Given the description of an element on the screen output the (x, y) to click on. 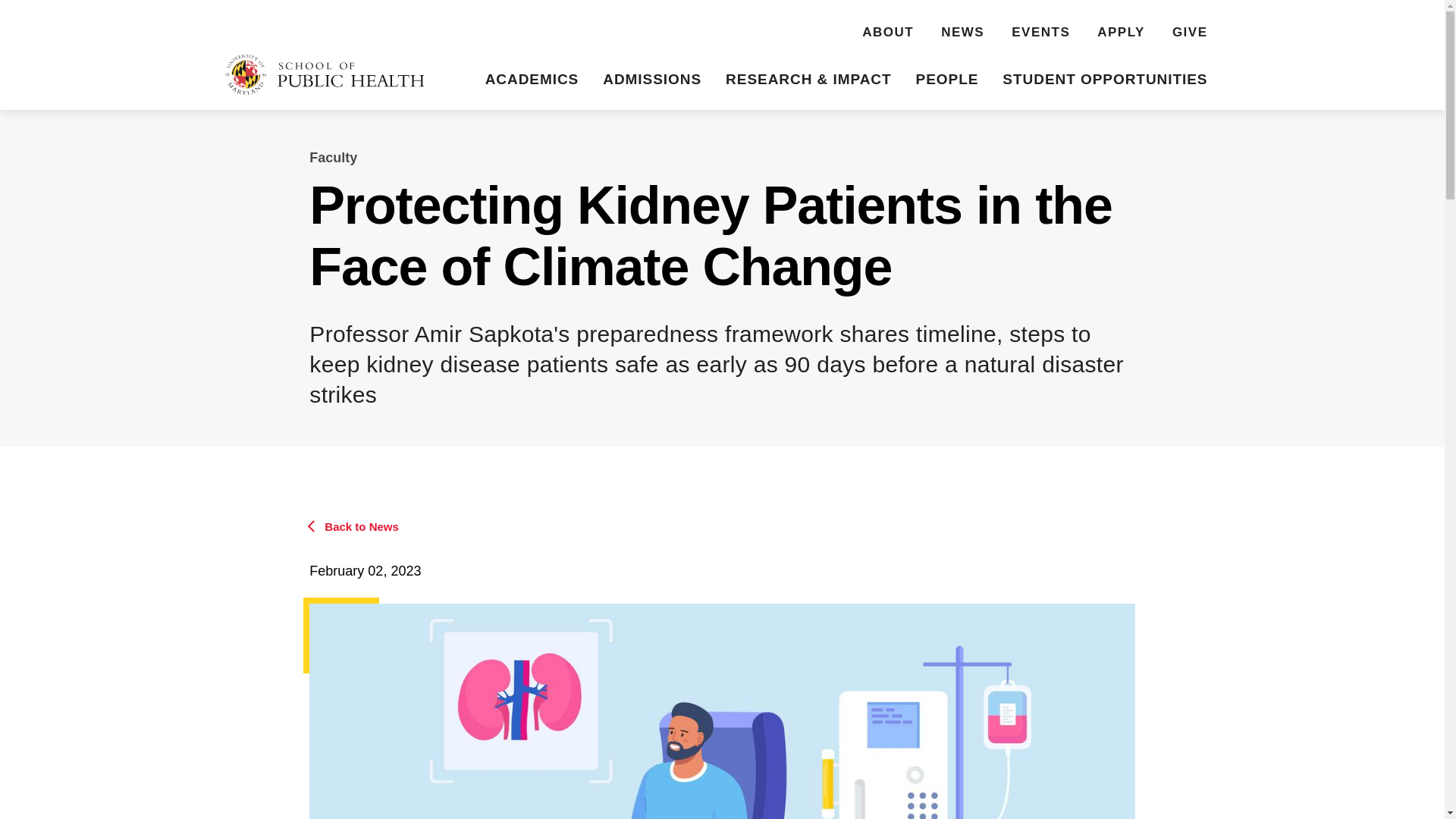
APPLY (1120, 34)
GIVE (1190, 34)
EVENTS (1040, 34)
NEWS (962, 34)
STUDENT OPPORTUNITIES (1105, 81)
ACADEMICS (532, 81)
ADMISSIONS (652, 81)
ABOUT (887, 34)
PEOPLE (947, 81)
